Given the description of an element on the screen output the (x, y) to click on. 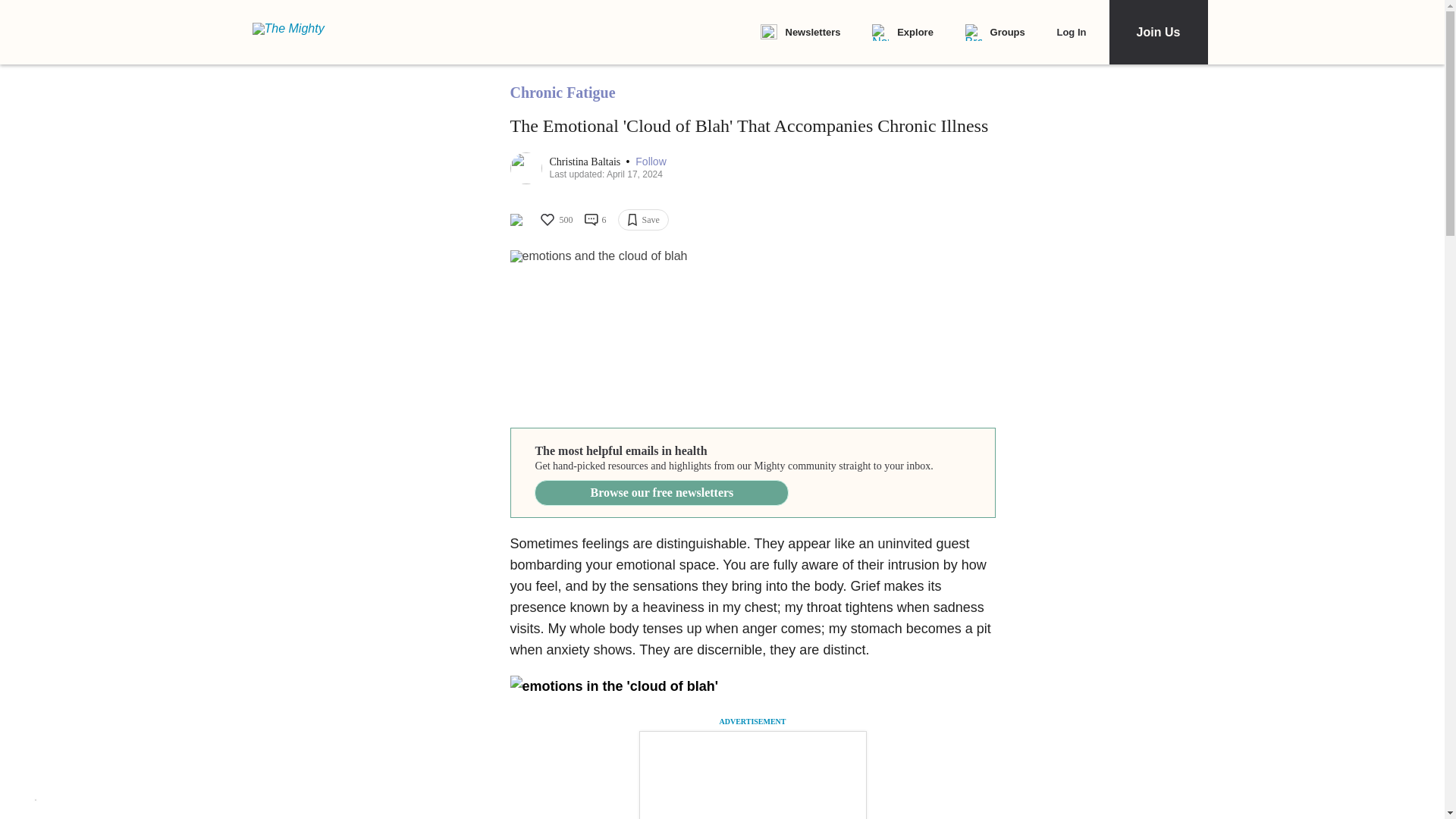
Christina Baltais (585, 161)
Chronic Fatigue (561, 92)
500 (555, 219)
Newsletters (800, 32)
Browse our free newsletters (661, 492)
6 (594, 219)
Save (642, 219)
Join Us (1157, 32)
Follow (649, 161)
ADVERTISEMENT (752, 721)
